Given the description of an element on the screen output the (x, y) to click on. 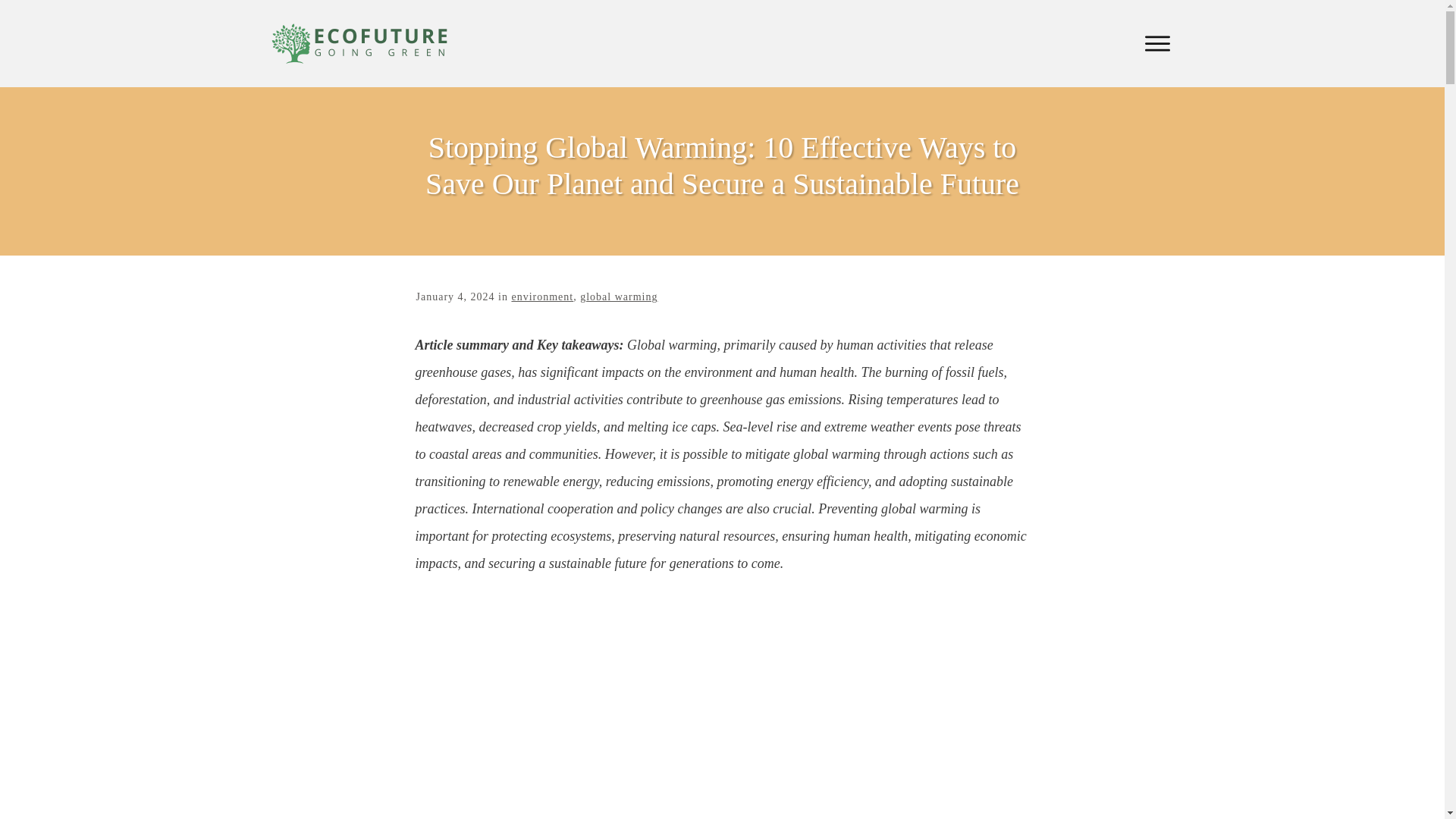
environment (542, 296)
global warming (618, 296)
global warming (618, 296)
environment (542, 296)
